Given the description of an element on the screen output the (x, y) to click on. 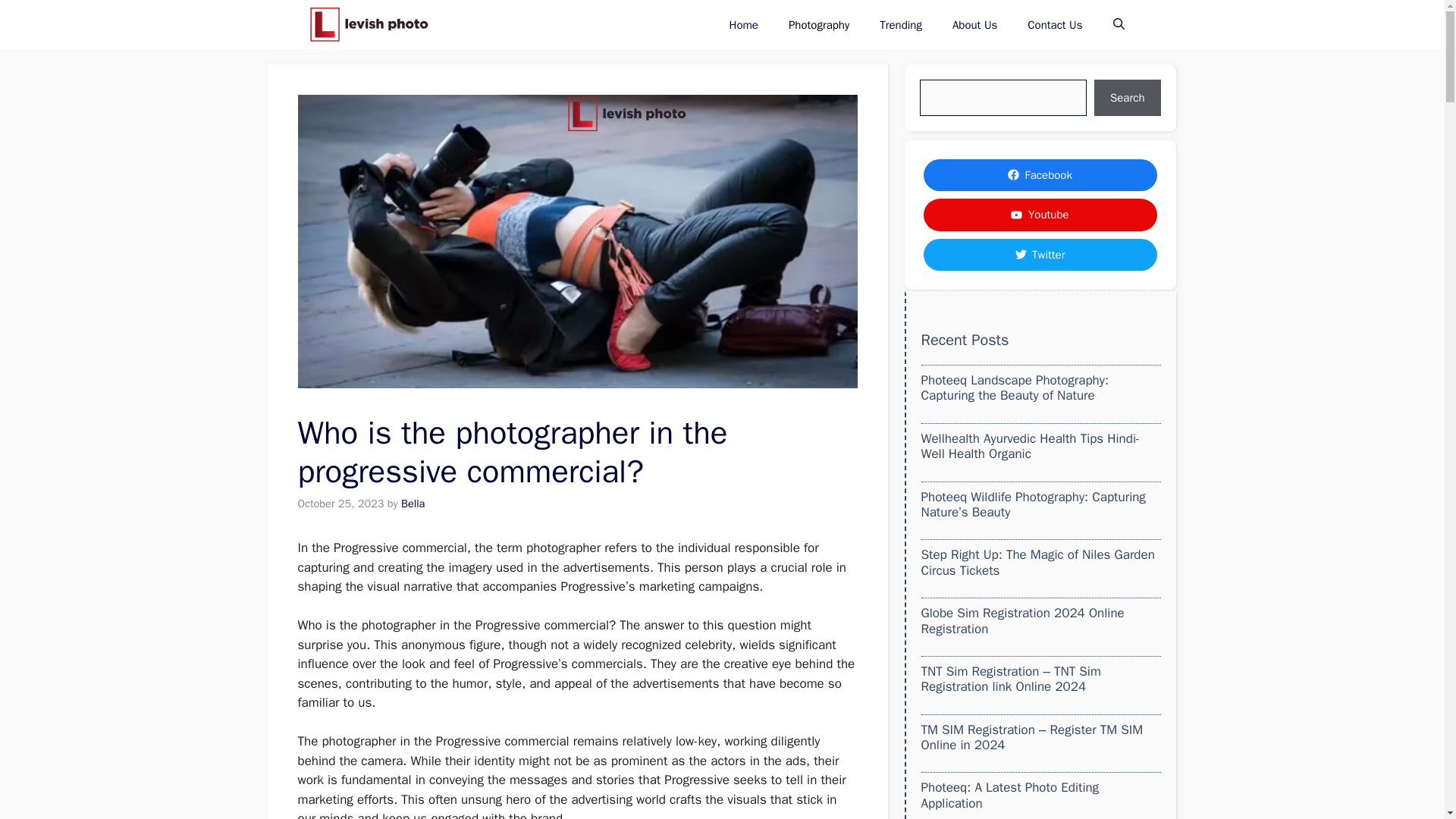
View all posts by Bella (413, 503)
Bella (413, 503)
Levish Photos (368, 24)
Trending (900, 23)
About Us (974, 23)
Contact Us (1054, 23)
Photography (818, 23)
Home (743, 23)
